Given the description of an element on the screen output the (x, y) to click on. 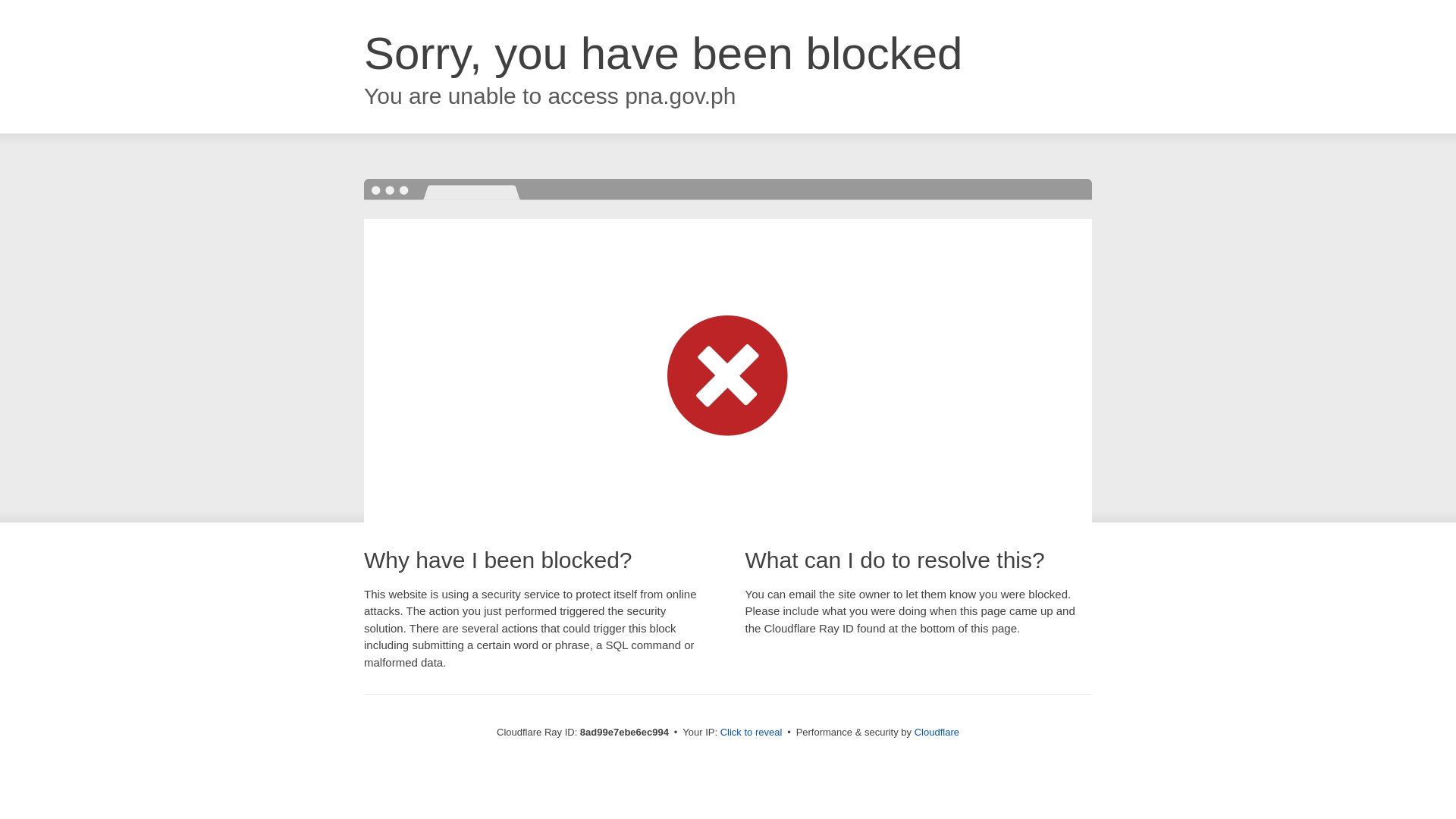
Cloudflare (936, 731)
Click to reveal (751, 732)
